Given the description of an element on the screen output the (x, y) to click on. 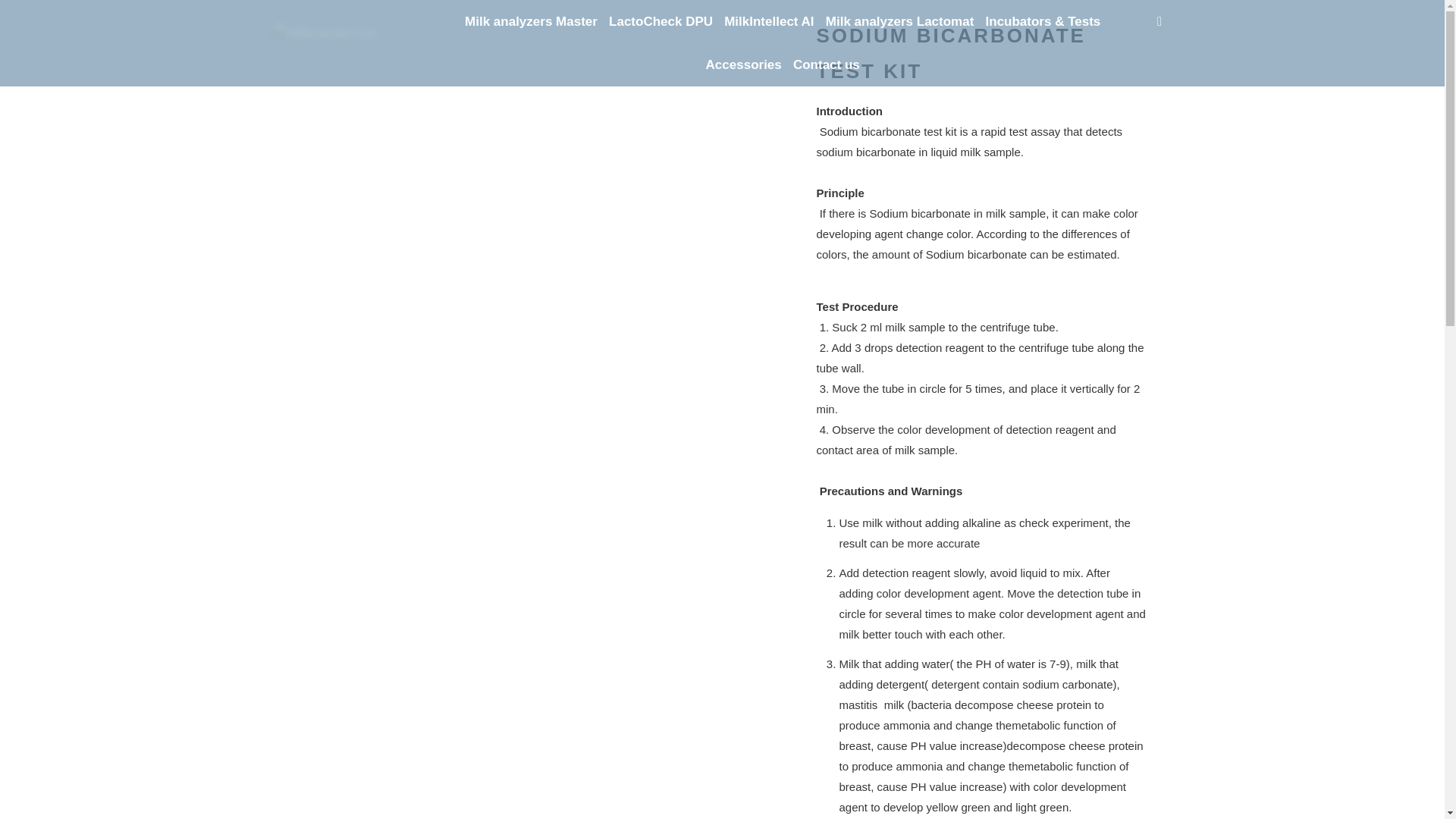
Milk analyzers Master (530, 21)
Accessories (743, 64)
Contact us (826, 64)
SODIUM BICARBONATE TEST KIT (949, 53)
Milk analyzers Lactomat (899, 21)
MilkIntellect AI (768, 21)
Milkotester Ltd (342, 43)
LactoCheck DPU (660, 21)
